Given the description of an element on the screen output the (x, y) to click on. 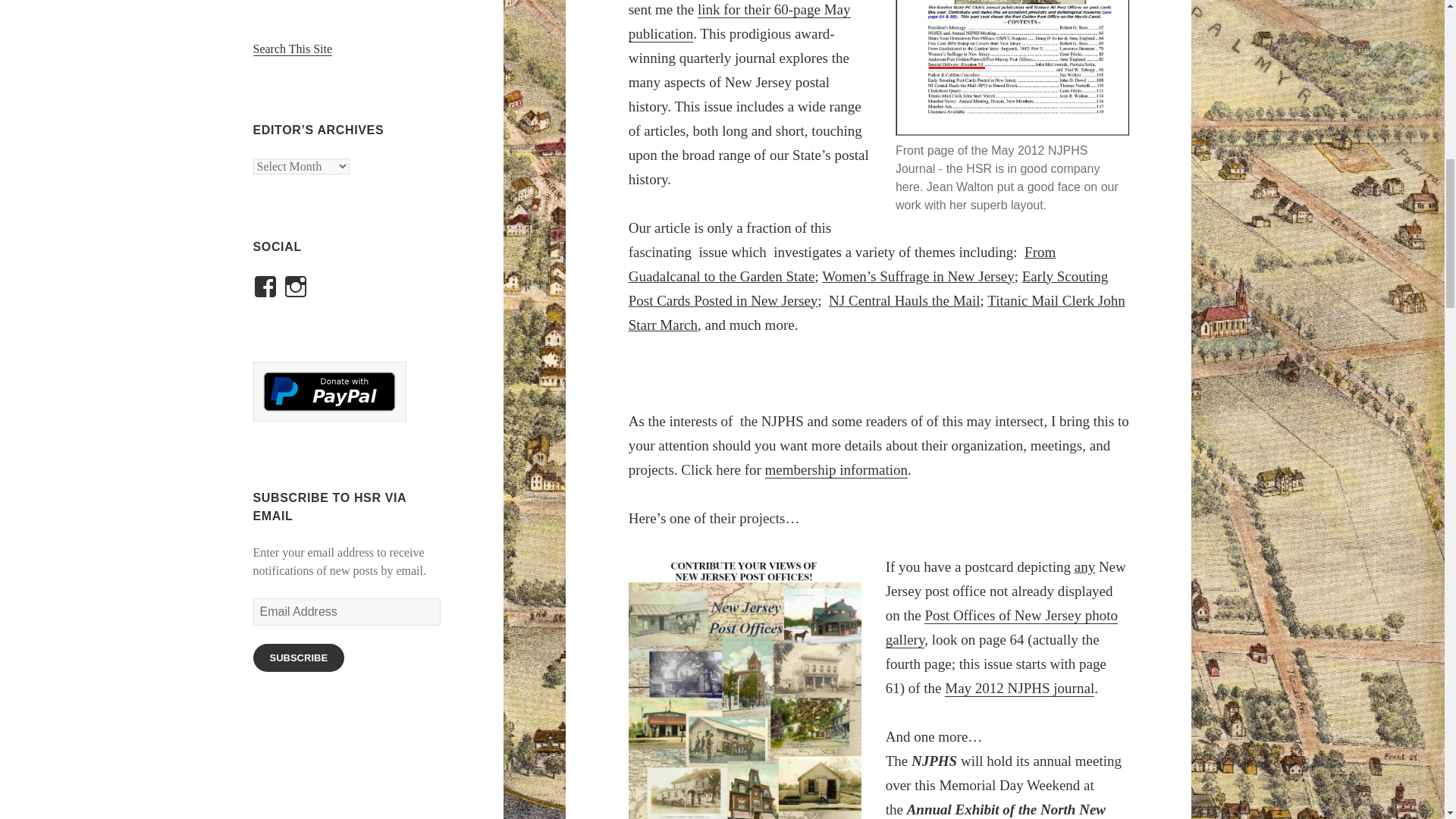
membership information (836, 469)
May 2012 NJPHS journal (1019, 688)
Contribute NJ post office views (744, 690)
SUBSCRIBE (299, 657)
NJPHS journal image (1012, 67)
link for their 60-page May publication (739, 21)
Search This Site (293, 49)
Post Offices of New Jersey photo gallery (1001, 627)
